Given the description of an element on the screen output the (x, y) to click on. 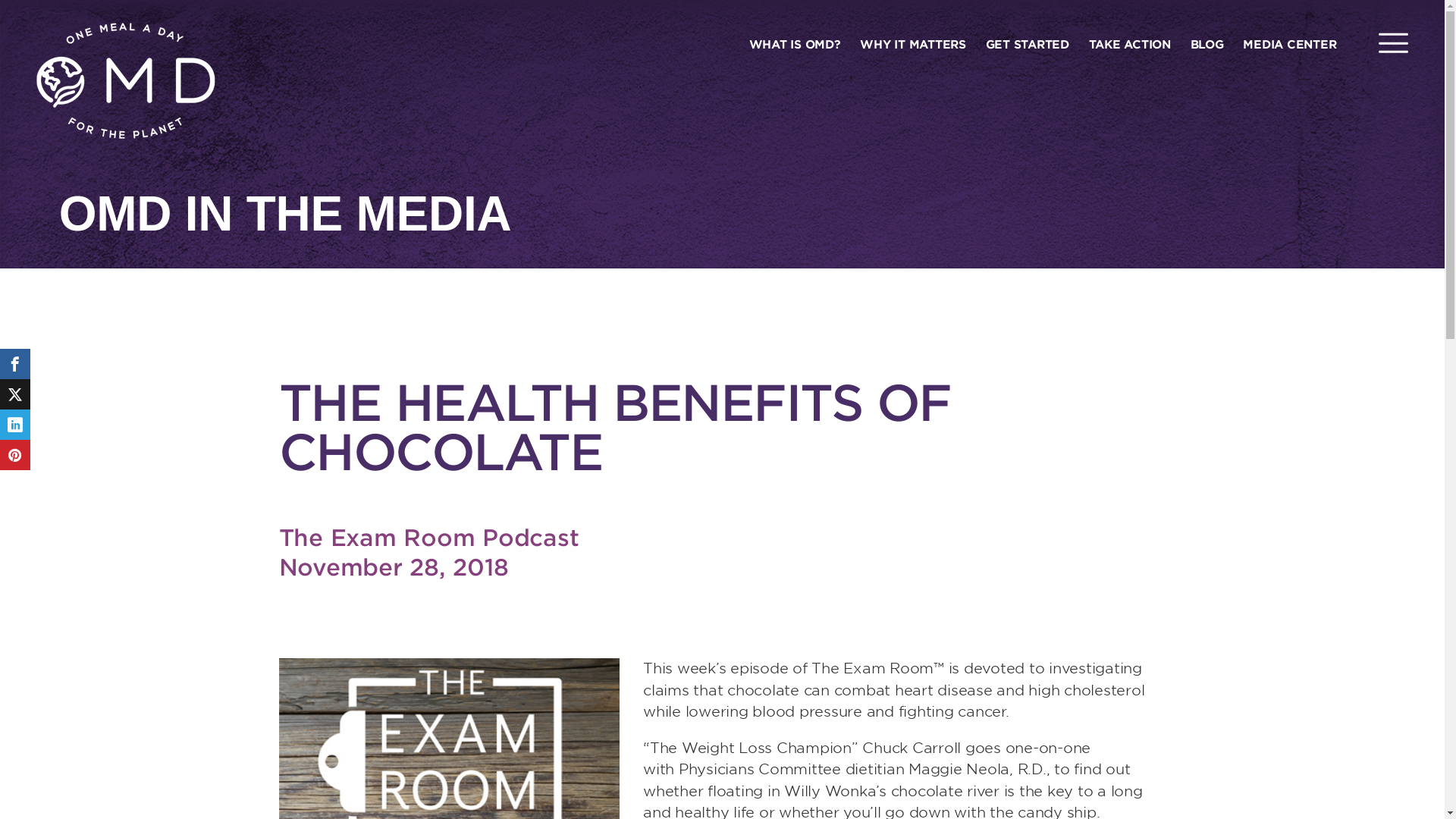
TAKE ACTION (1129, 43)
WHY IT MATTERS (913, 43)
GET STARTED (1026, 43)
WHAT IS OMD? (795, 43)
MEDIA CENTER (1289, 43)
BLOG (1207, 43)
